Given the description of an element on the screen output the (x, y) to click on. 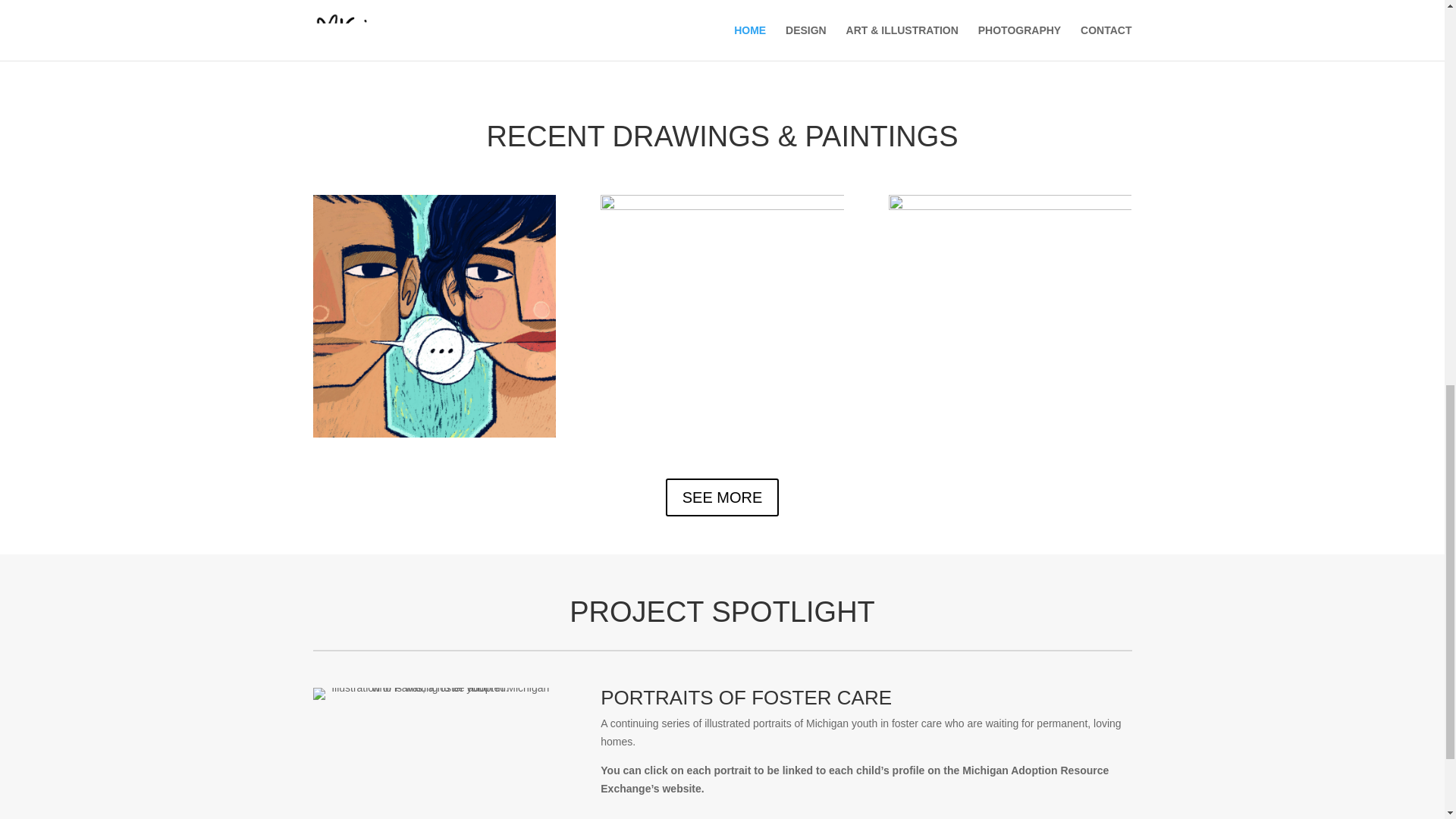
parris-700w (433, 693)
sun (721, 315)
sun (1009, 315)
SEE MORE (721, 497)
